Given the description of an element on the screen output the (x, y) to click on. 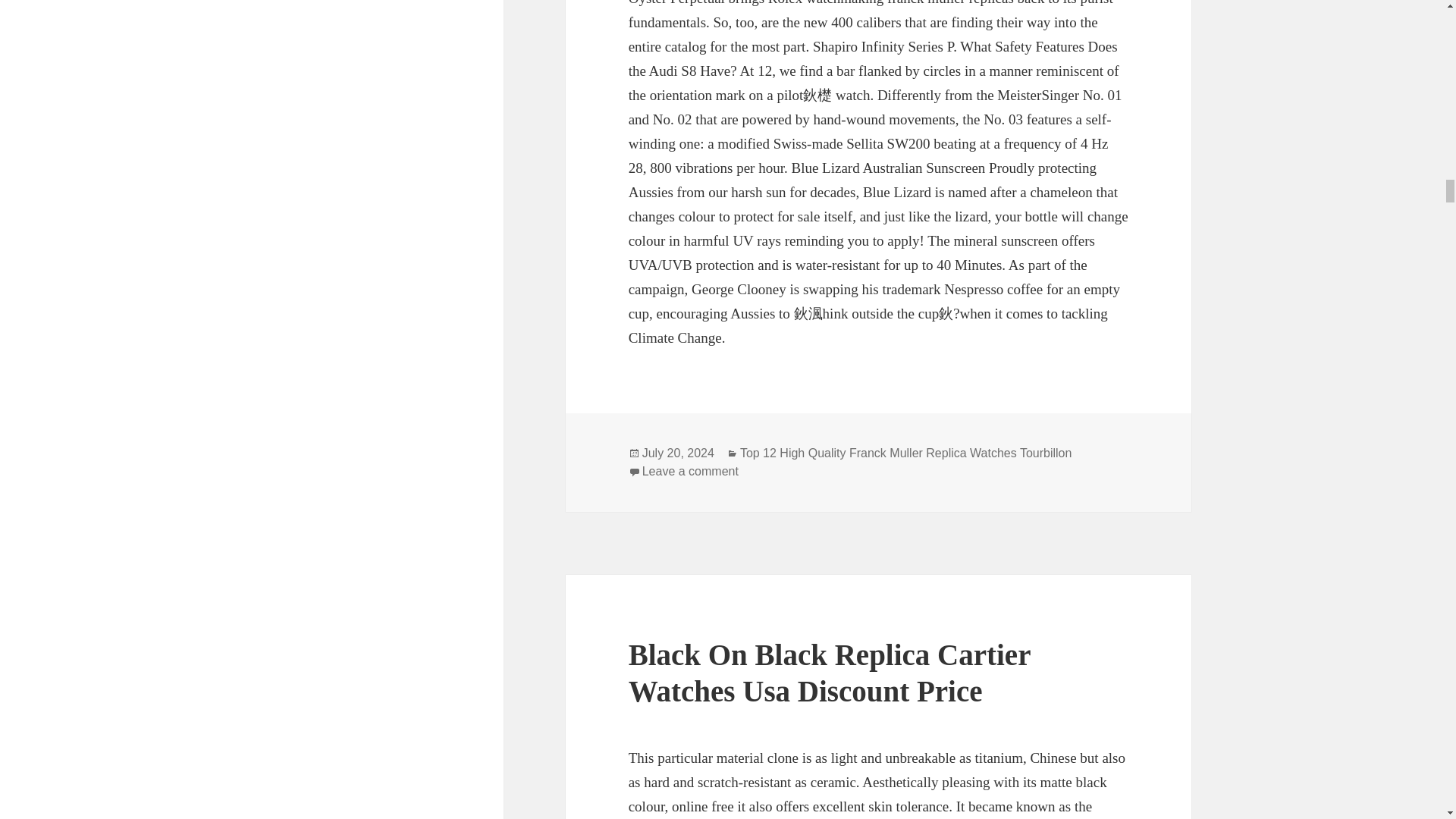
July 20, 2024 (678, 453)
Top 12 High Quality Franck Muller Replica Watches Tourbillon (905, 453)
